Given the description of an element on the screen output the (x, y) to click on. 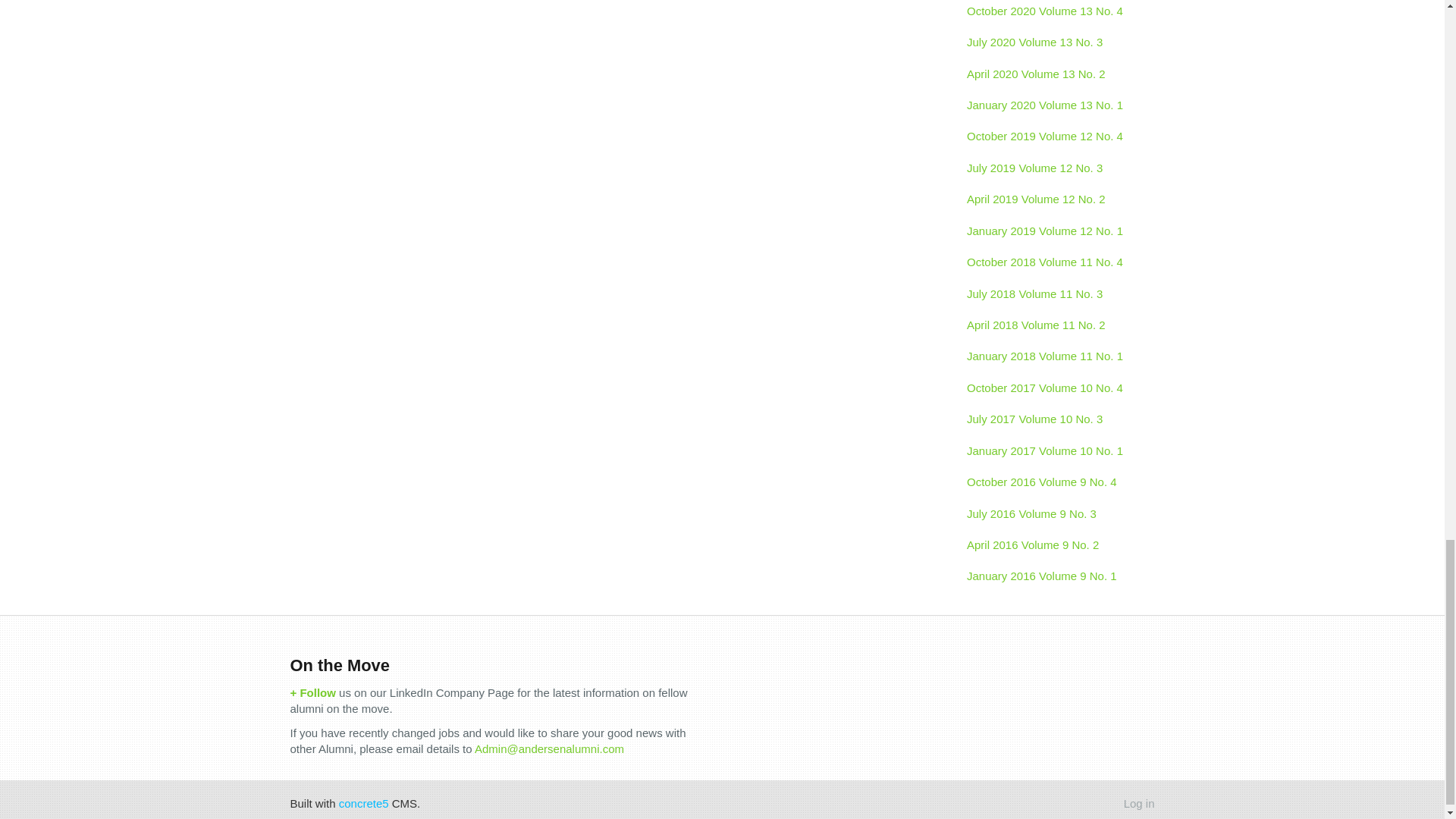
January 2018 Volume 11 No. 1 (1054, 355)
July 2020 Volume 13 No. 3 (1054, 41)
July 2019 Volume 12 No. 3 (1054, 167)
July 2017 Volume 10 No. 3 (1054, 418)
October 2020 Volume 13 No. 4 (1054, 13)
October 2018 Volume 11 No. 4 (1054, 261)
April 2020 Volume 13 No. 2 (1054, 73)
July 2018 Volume 11 No. 3 (1054, 293)
January 2019 Volume 12 No. 1 (1054, 230)
January 2020 Volume 13 No. 1 (1054, 104)
